Given the description of an element on the screen output the (x, y) to click on. 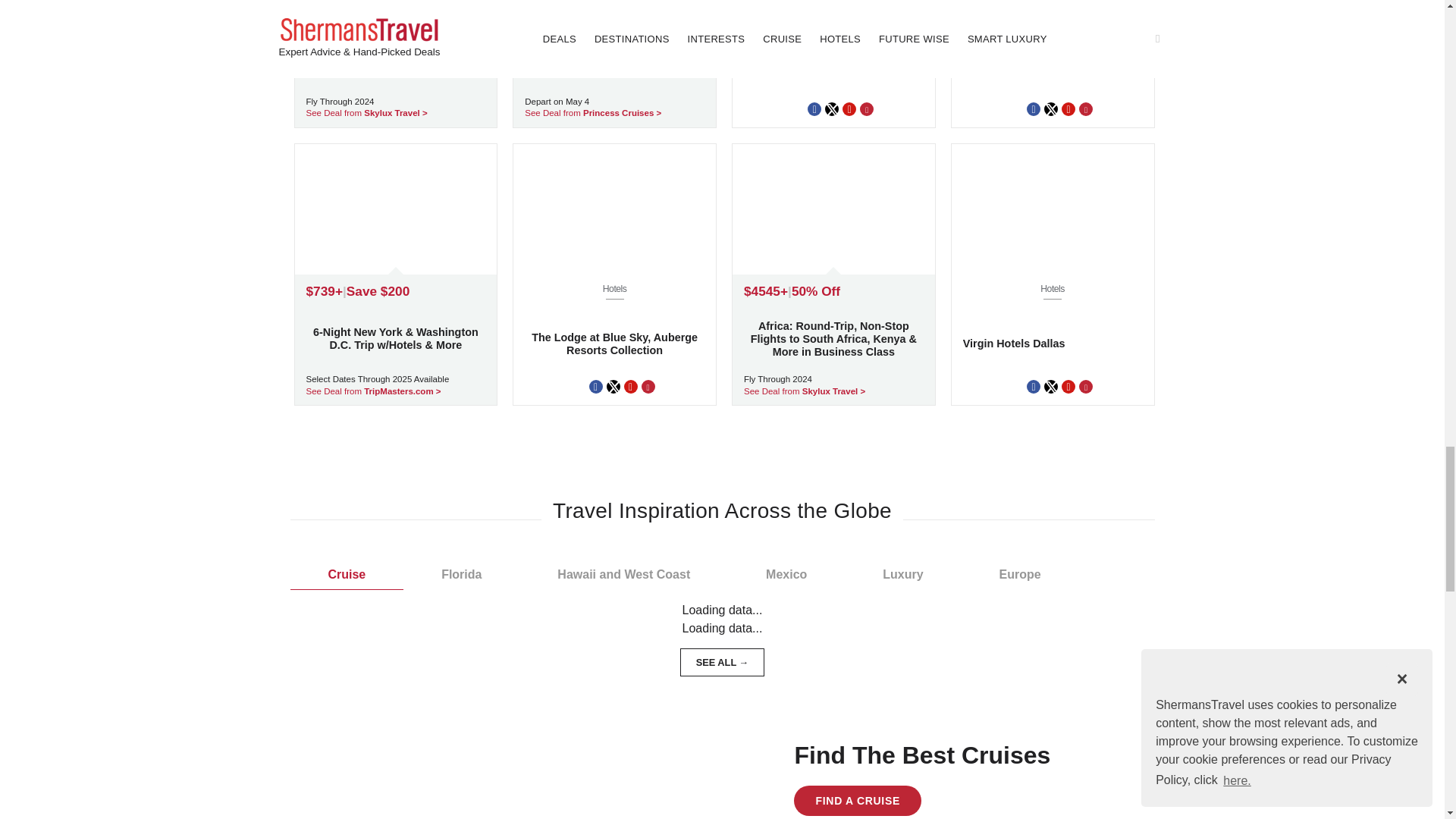
FIND A CRUISE (1052, 63)
